Given the description of an element on the screen output the (x, y) to click on. 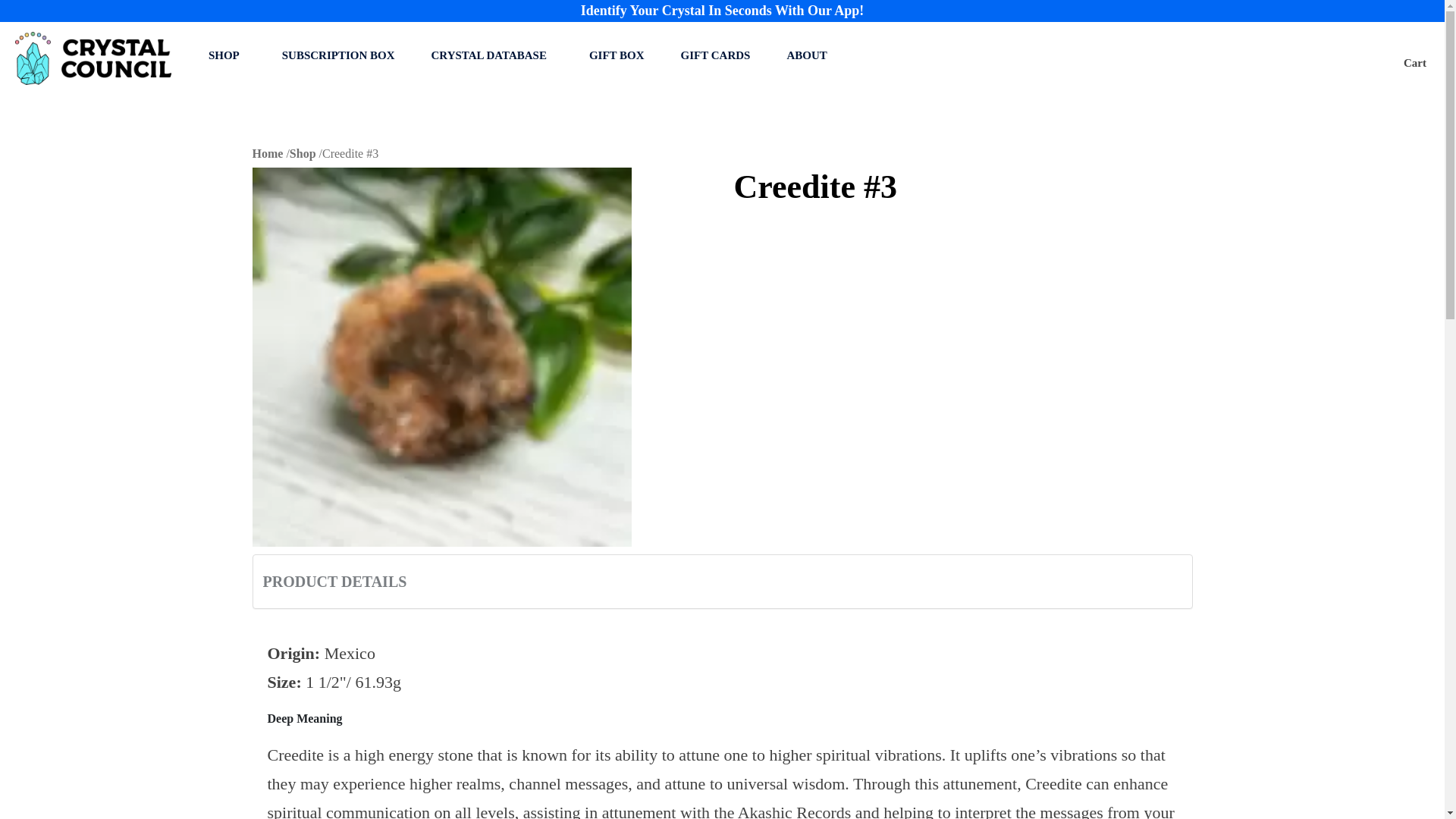
GIFT BOX (616, 56)
SHOP (226, 56)
CRYSTAL DATABASE (492, 56)
SUBSCRIPTION BOX (338, 56)
ABOUT (809, 56)
GIFT CARDS (716, 56)
Identify Your Crystal In Seconds With Our App! (722, 10)
